Given the description of an element on the screen output the (x, y) to click on. 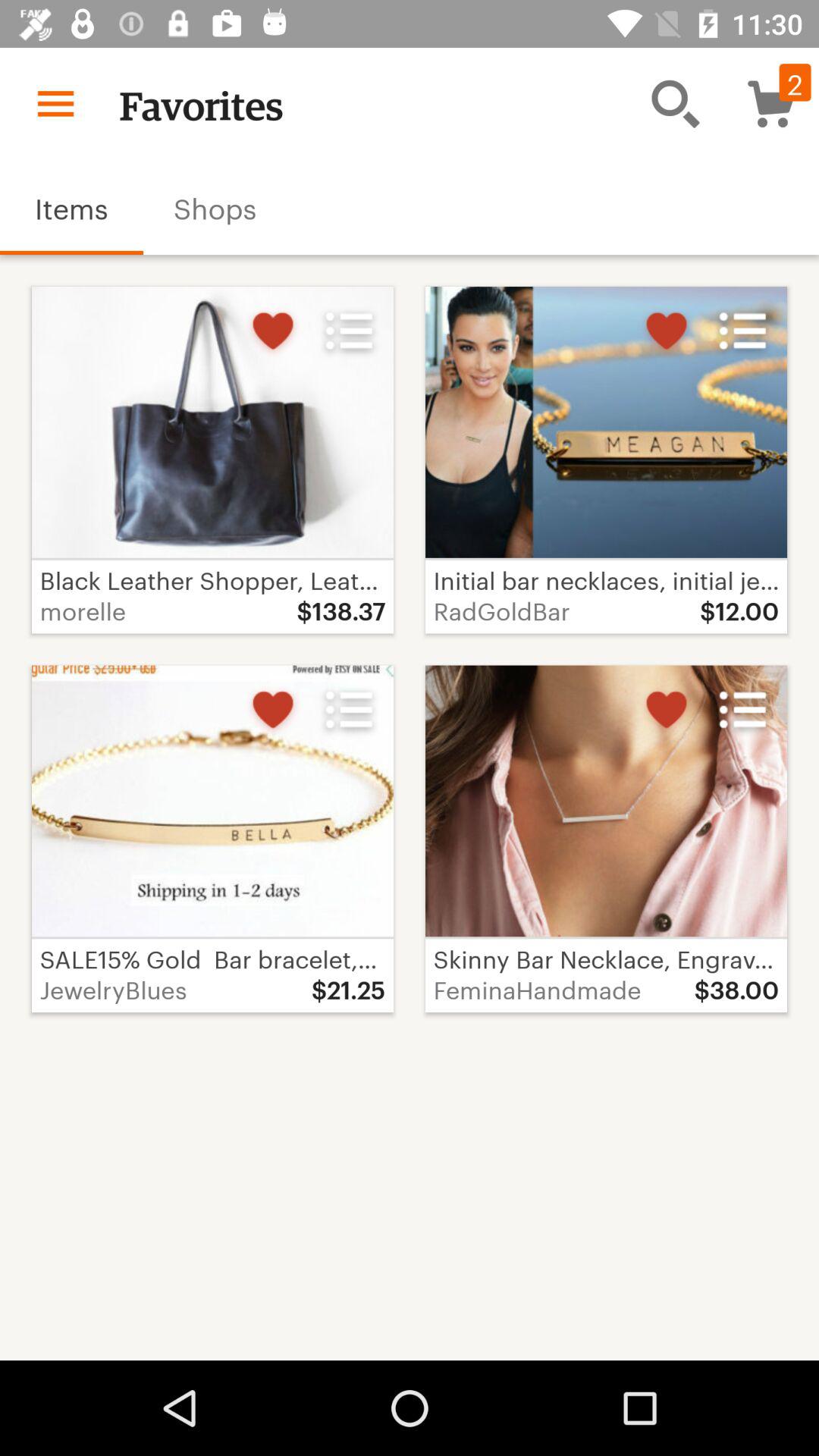
turn off the app next to favorites item (55, 103)
